Given the description of an element on the screen output the (x, y) to click on. 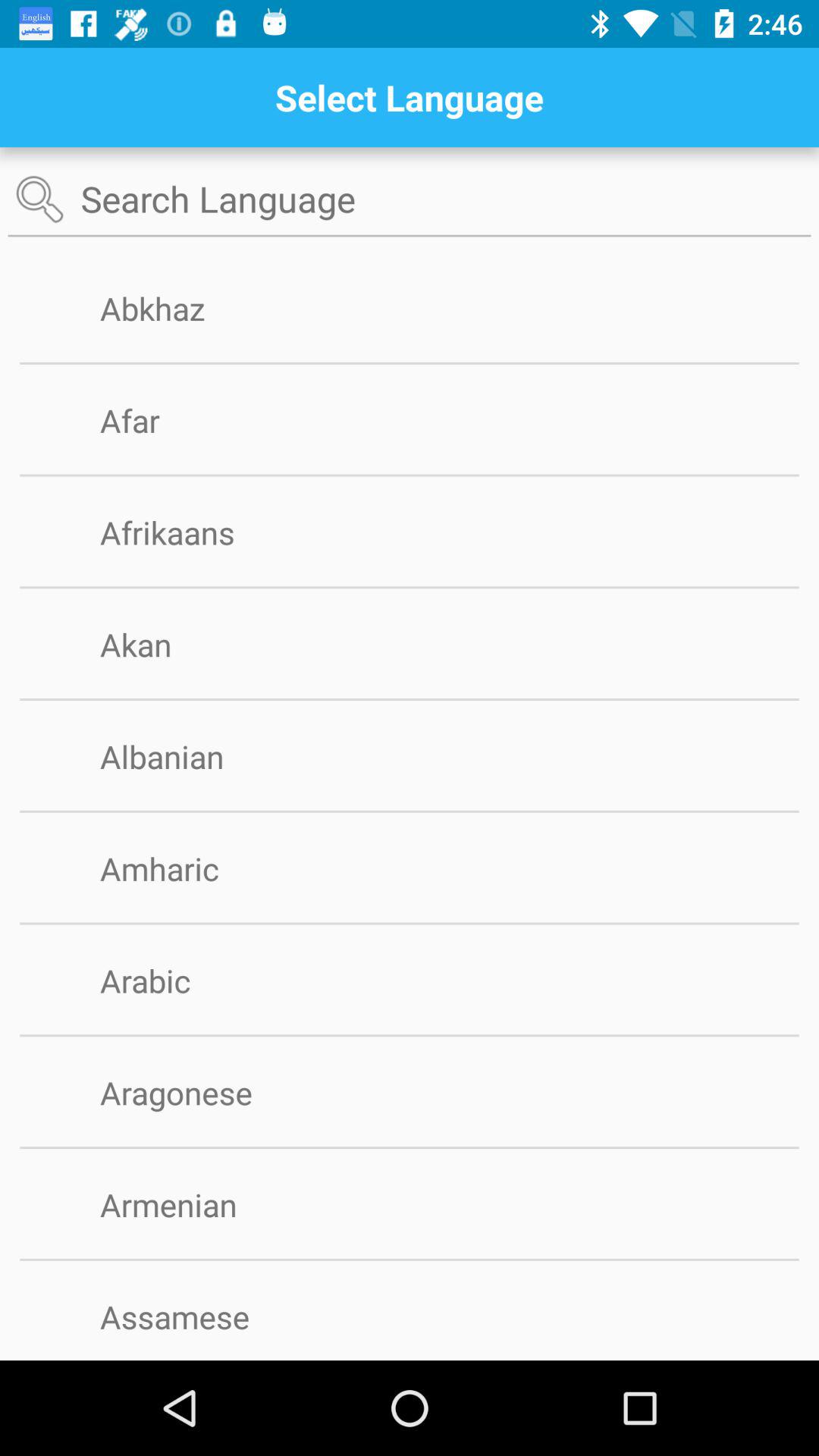
turn off the abkhaz icon (176, 307)
